Given the description of an element on the screen output the (x, y) to click on. 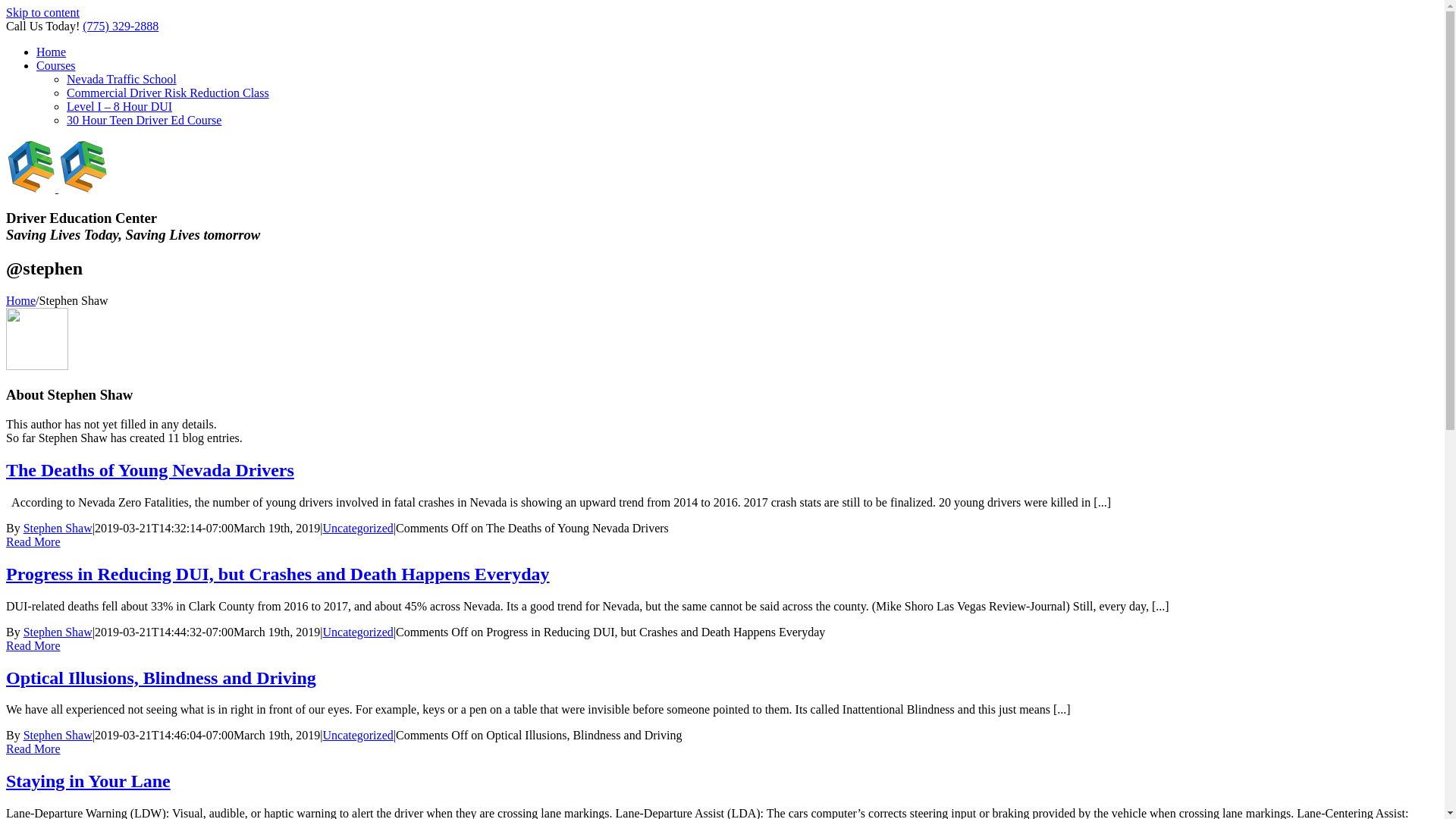
Read More Element type: text (33, 541)
Read More Element type: text (33, 645)
Staying in Your Lane Element type: text (88, 780)
30 Hour Teen Driver Ed Course Element type: text (143, 119)
Nevada Traffic School Element type: text (121, 78)
Skip to content Element type: text (42, 12)
Read More Element type: text (33, 748)
Home Element type: text (20, 300)
Stephen Shaw Element type: text (57, 734)
Courses Element type: text (55, 65)
Commercial Driver Risk Reduction Class Element type: text (167, 92)
Stephen Shaw Element type: text (57, 631)
Optical Illusions, Blindness and Driving Element type: text (161, 677)
Uncategorized Element type: text (357, 631)
Uncategorized Element type: text (357, 734)
Uncategorized Element type: text (357, 527)
The Deaths of Young Nevada Drivers Element type: text (150, 470)
Stephen Shaw Element type: text (57, 527)
(775) 329-2888 Element type: text (120, 25)
Home Element type: text (50, 51)
